Given the description of an element on the screen output the (x, y) to click on. 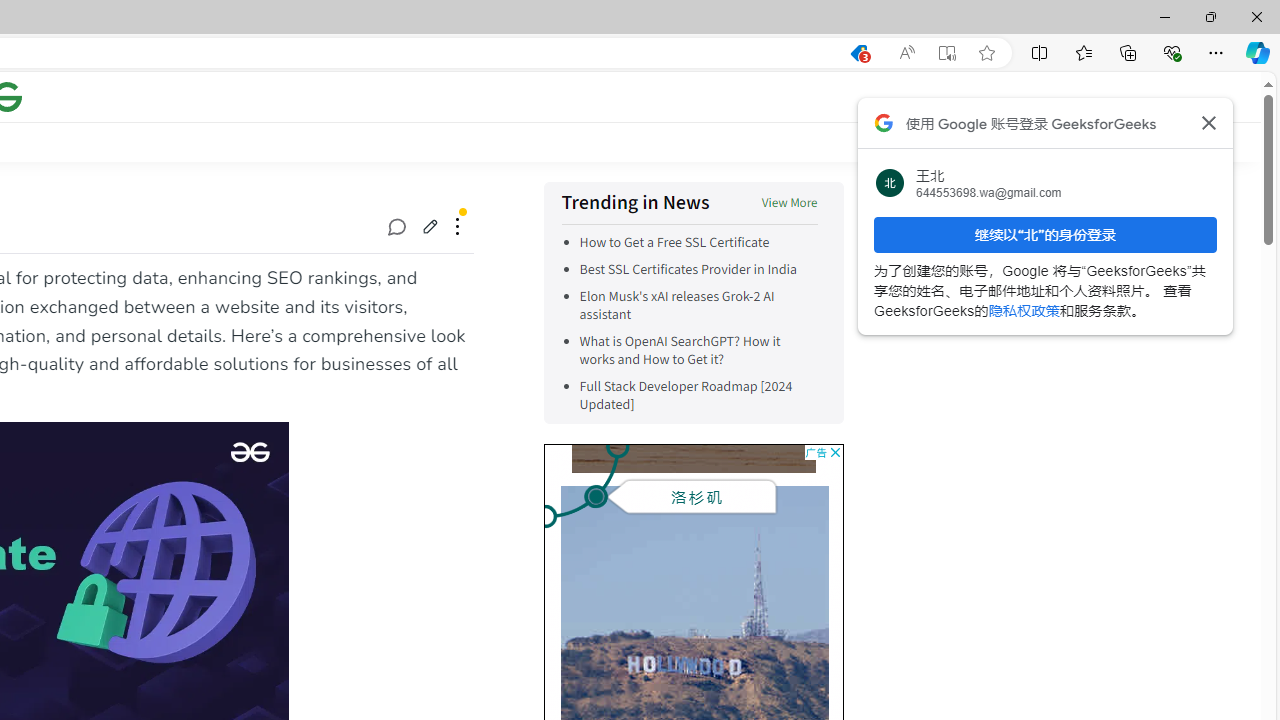
How to Get a Free SSL Certificate (697, 242)
